Given the description of an element on the screen output the (x, y) to click on. 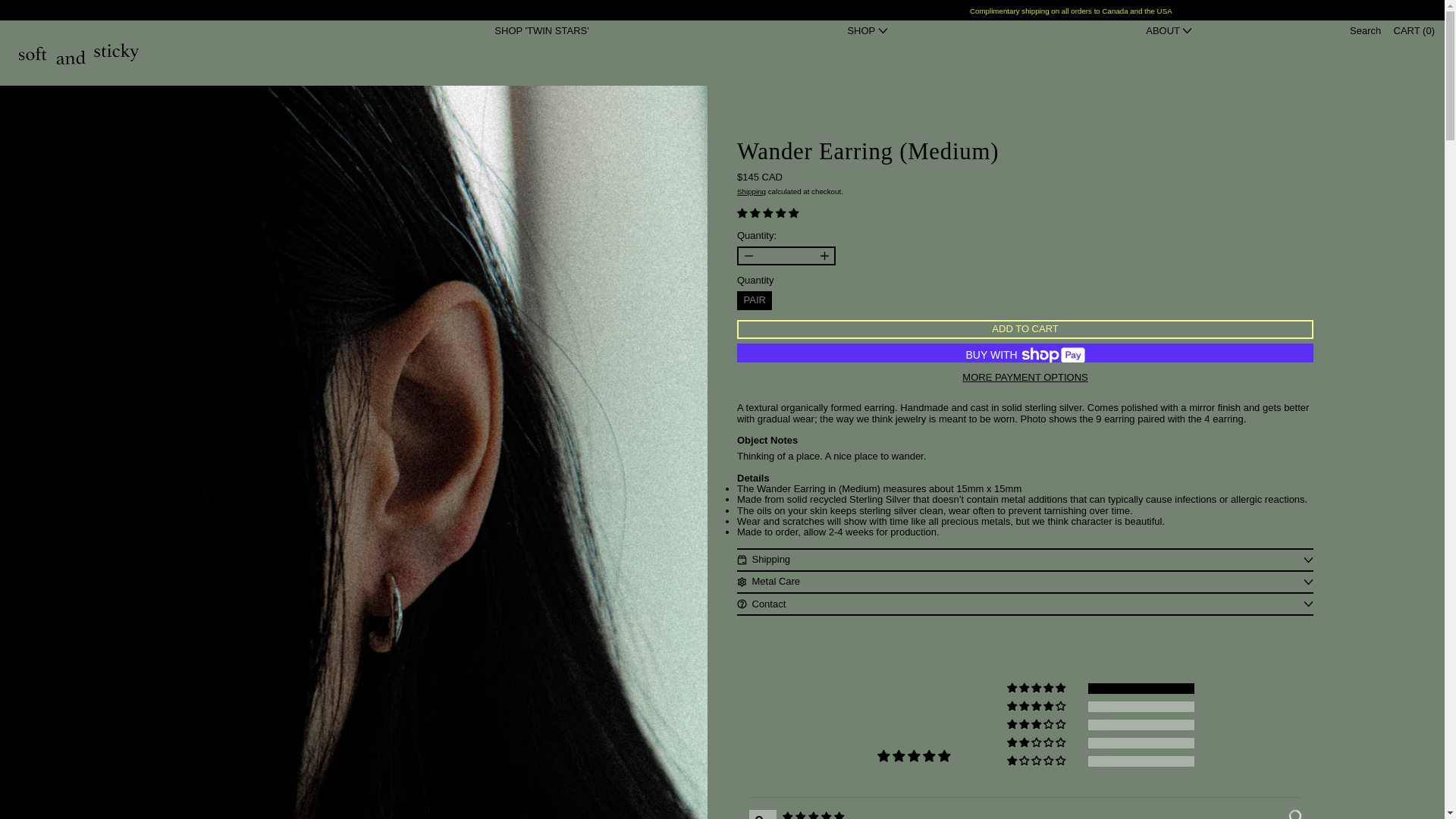
Shipping (1024, 559)
ADD TO CART (1024, 329)
ABOUT (1168, 30)
Shipping (750, 191)
SHOP 'TWIN STARS' (541, 30)
Metal Care (1024, 581)
SHOP (866, 30)
Contact (1024, 603)
MORE PAYMENT OPTIONS (1024, 377)
